Given the description of an element on the screen output the (x, y) to click on. 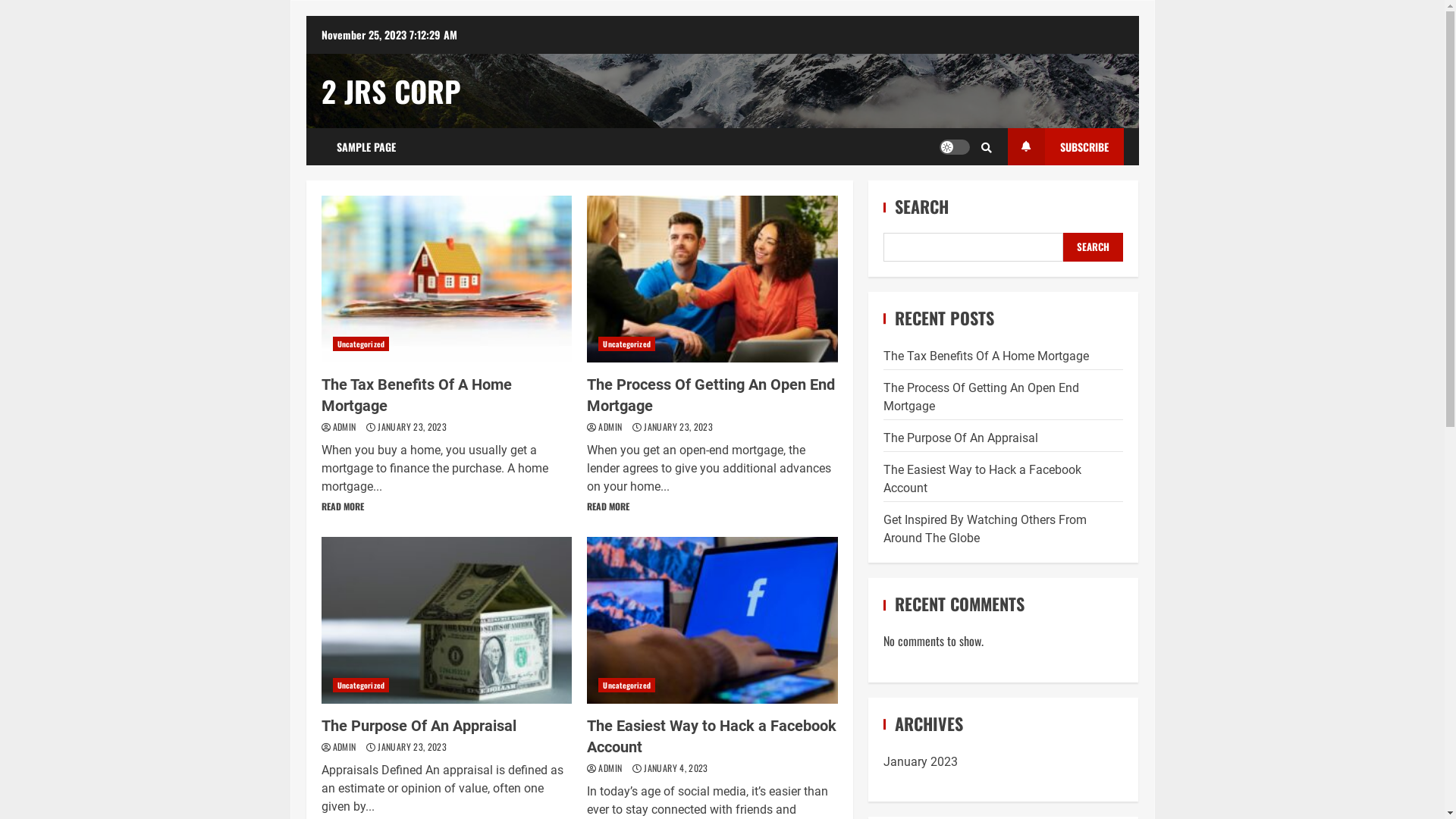
READ MORE Element type: text (342, 505)
Search Element type: text (960, 192)
2 JRS CORP Element type: text (391, 90)
The Purpose Of An Appraisal Element type: text (446, 619)
ADMIN Element type: text (611, 767)
The Purpose Of An Appraisal Element type: text (960, 437)
Light/Dark Button Element type: text (953, 146)
Uncategorized Element type: text (360, 684)
The Process Of Getting An Open End Mortgage Element type: text (981, 396)
The Tax Benefits Of A Home Mortgage Element type: text (446, 278)
Search Element type: hover (986, 145)
ADMIN Element type: text (344, 746)
The Tax Benefits Of A Home Mortgage Element type: text (985, 355)
Uncategorized Element type: text (626, 684)
The Easiest Way to Hack a Facebook Account Element type: text (711, 736)
The Purpose Of An Appraisal Element type: text (418, 725)
Get Inspired By Watching Others From Around The Globe Element type: text (984, 528)
ADMIN Element type: text (611, 426)
SUBSCRIBE Element type: text (1065, 146)
ADMIN Element type: text (344, 426)
The Process Of Getting An Open End Mortgage Element type: text (711, 278)
January 2023 Element type: text (920, 761)
The Easiest Way to Hack a Facebook Account Element type: text (982, 478)
SEARCH Element type: text (1093, 246)
Uncategorized Element type: text (360, 343)
The Tax Benefits Of A Home Mortgage Element type: text (416, 394)
SAMPLE PAGE Element type: text (366, 146)
Skip to content Element type: text (304, 15)
READ MORE Element type: text (607, 505)
The Process Of Getting An Open End Mortgage Element type: text (710, 394)
The Easiest Way to Hack a Facebook Account Element type: text (711, 619)
Uncategorized Element type: text (626, 343)
